Given the description of an element on the screen output the (x, y) to click on. 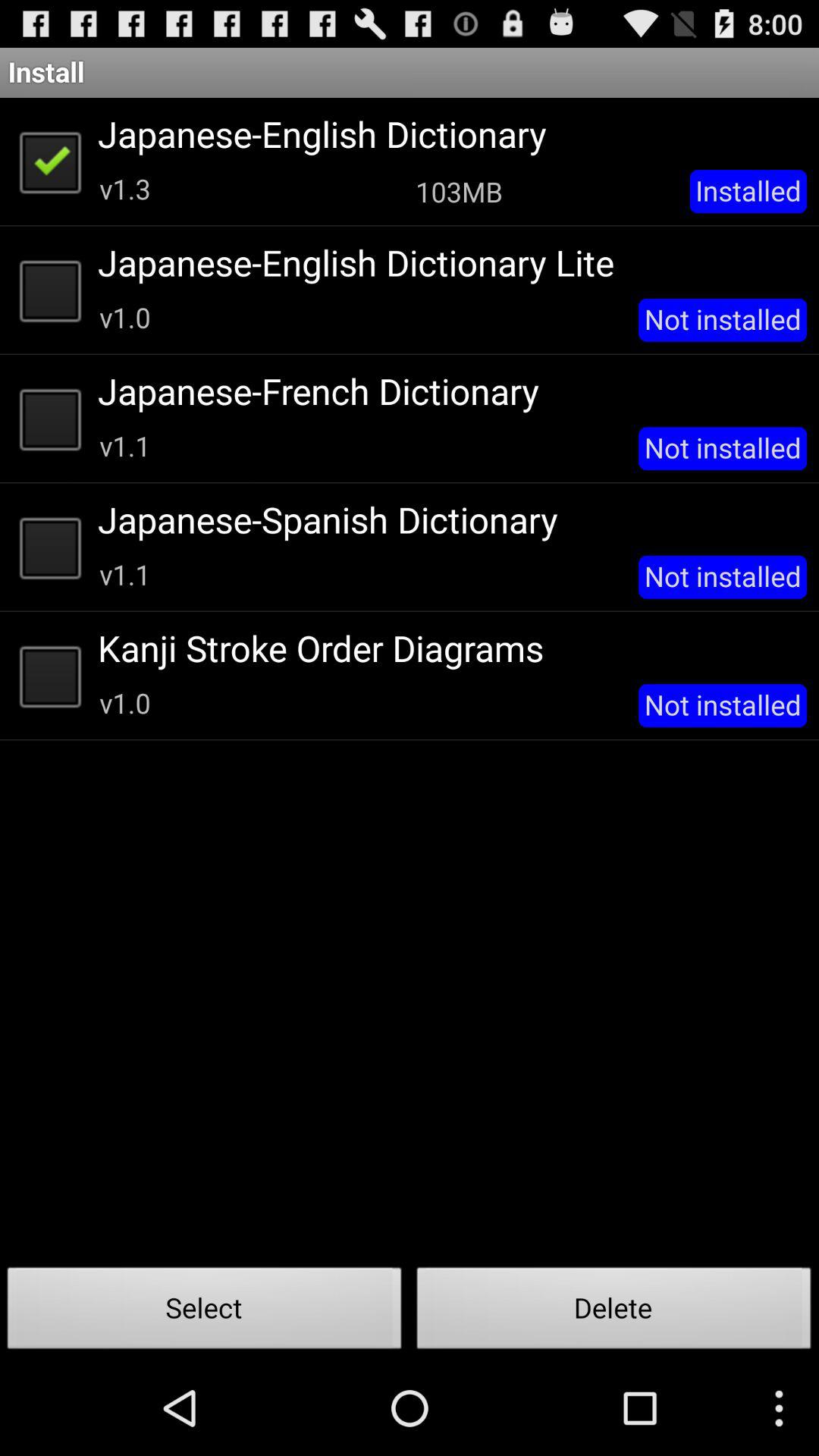
choose the icon to the left of delete (204, 1312)
